Given the description of an element on the screen output the (x, y) to click on. 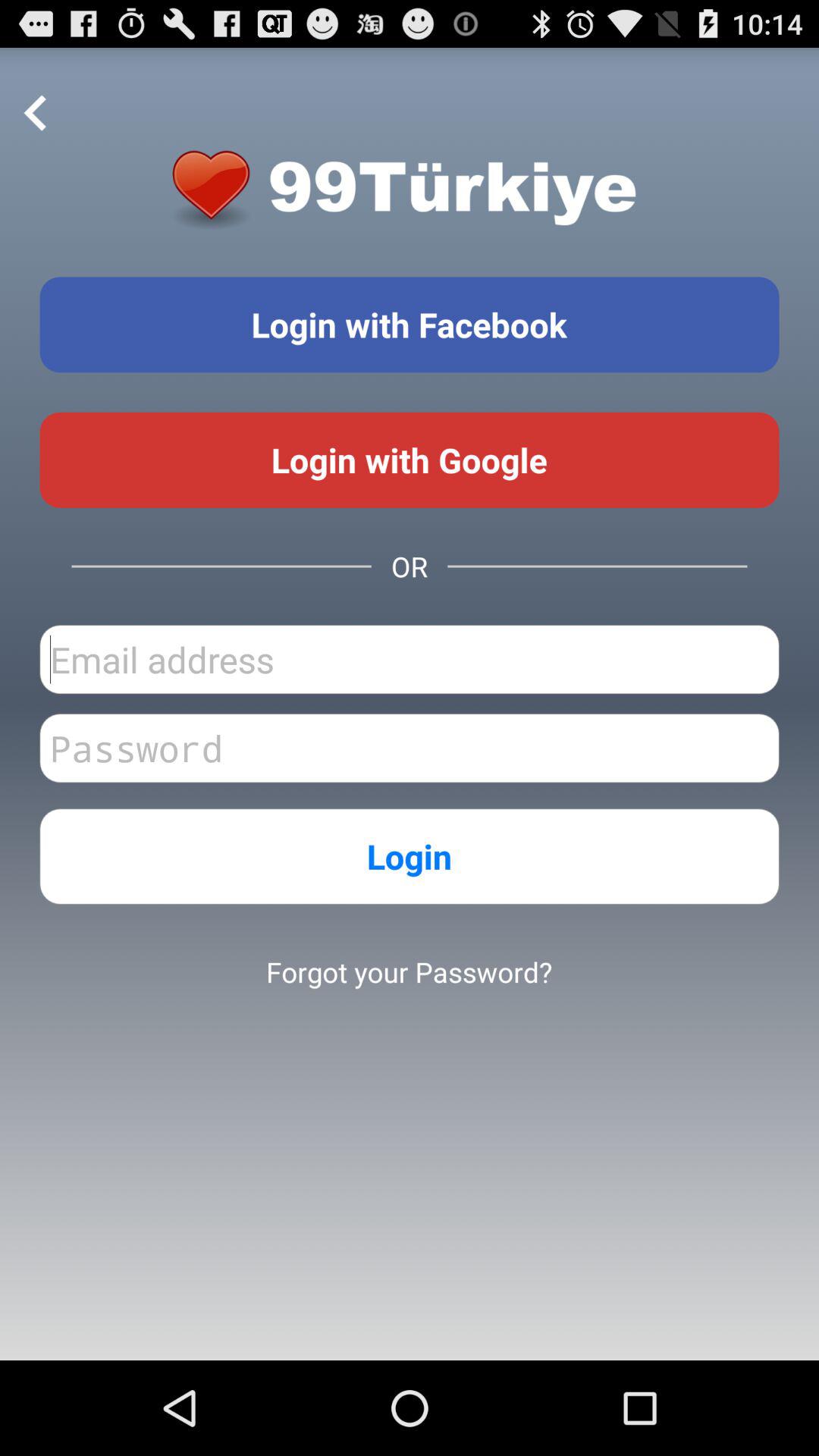
enter email address (409, 659)
